Given the description of an element on the screen output the (x, y) to click on. 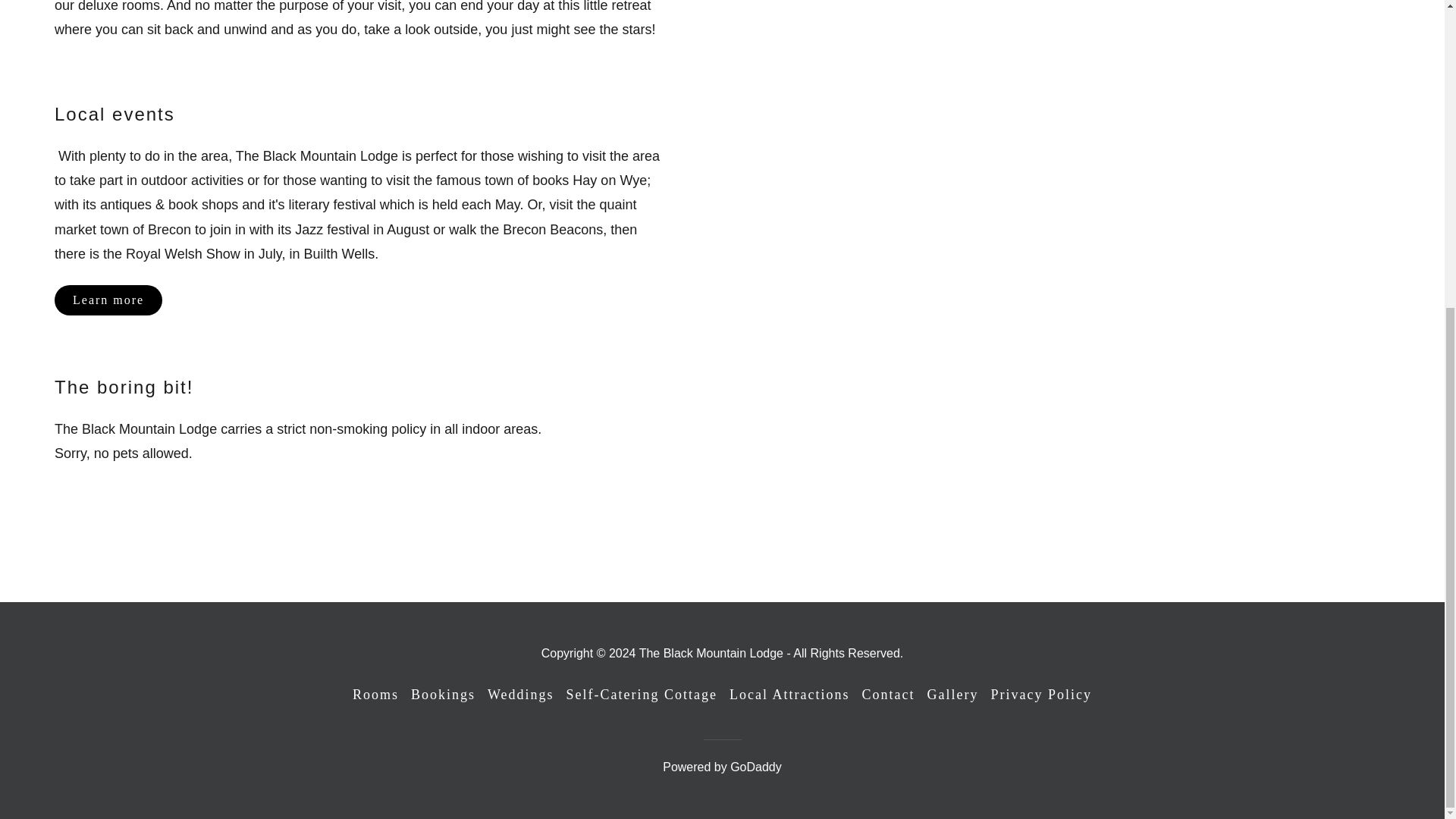
Bookings (442, 694)
Learn more (108, 300)
Rooms (375, 694)
